Given the description of an element on the screen output the (x, y) to click on. 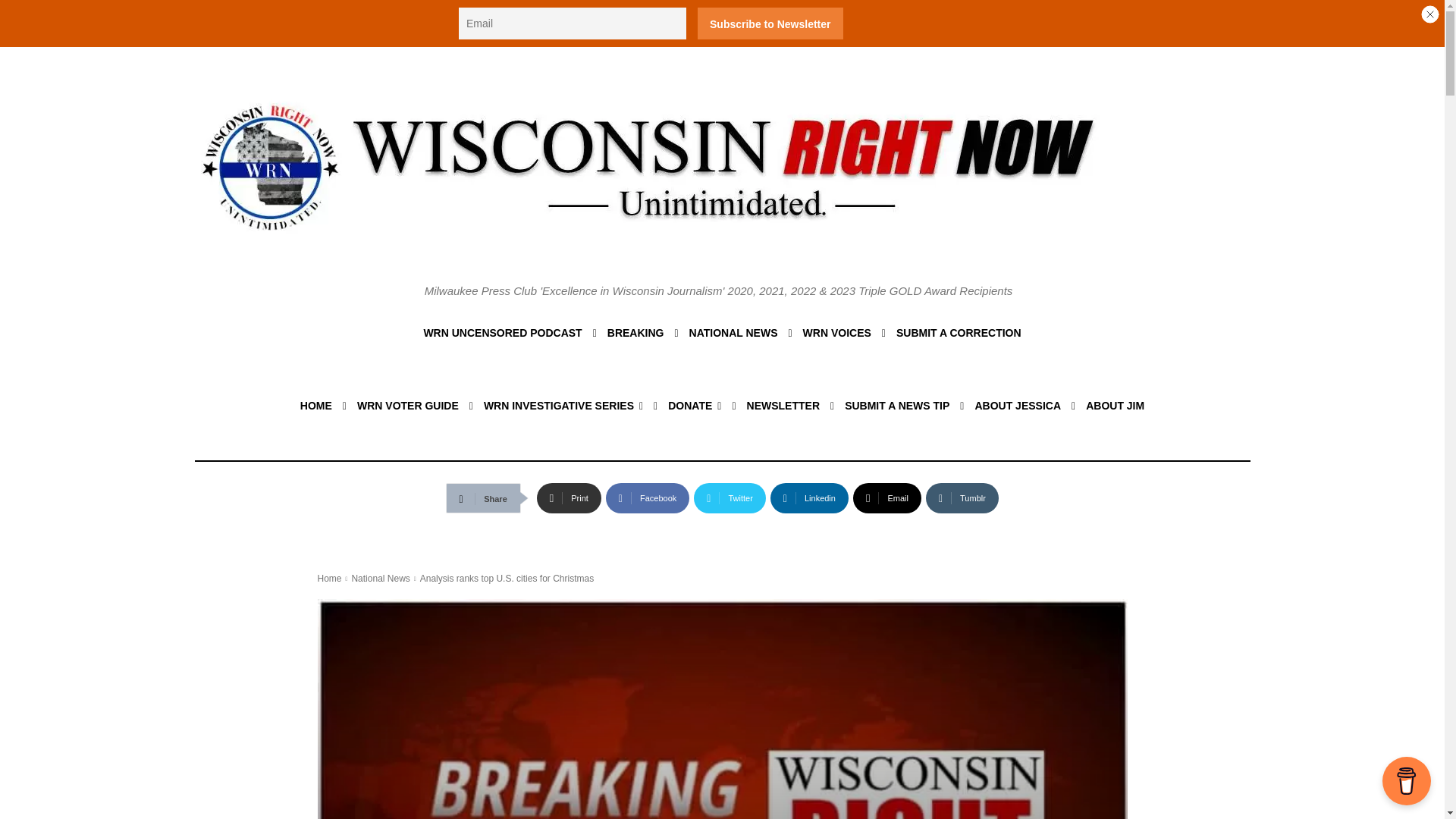
ABOUT JIM (1114, 405)
Facebook (646, 498)
WRN VOTER GUIDE (407, 405)
Twitter (729, 498)
Print (569, 498)
DONATE (695, 405)
HOME (315, 405)
Facebook (646, 498)
WRN VOICES (837, 332)
WRN INVESTIGATIVE SERIES (563, 405)
Linkedin (809, 498)
BREAKING (635, 332)
ABOUT JESSICA (1017, 405)
Print (569, 498)
